Given the description of an element on the screen output the (x, y) to click on. 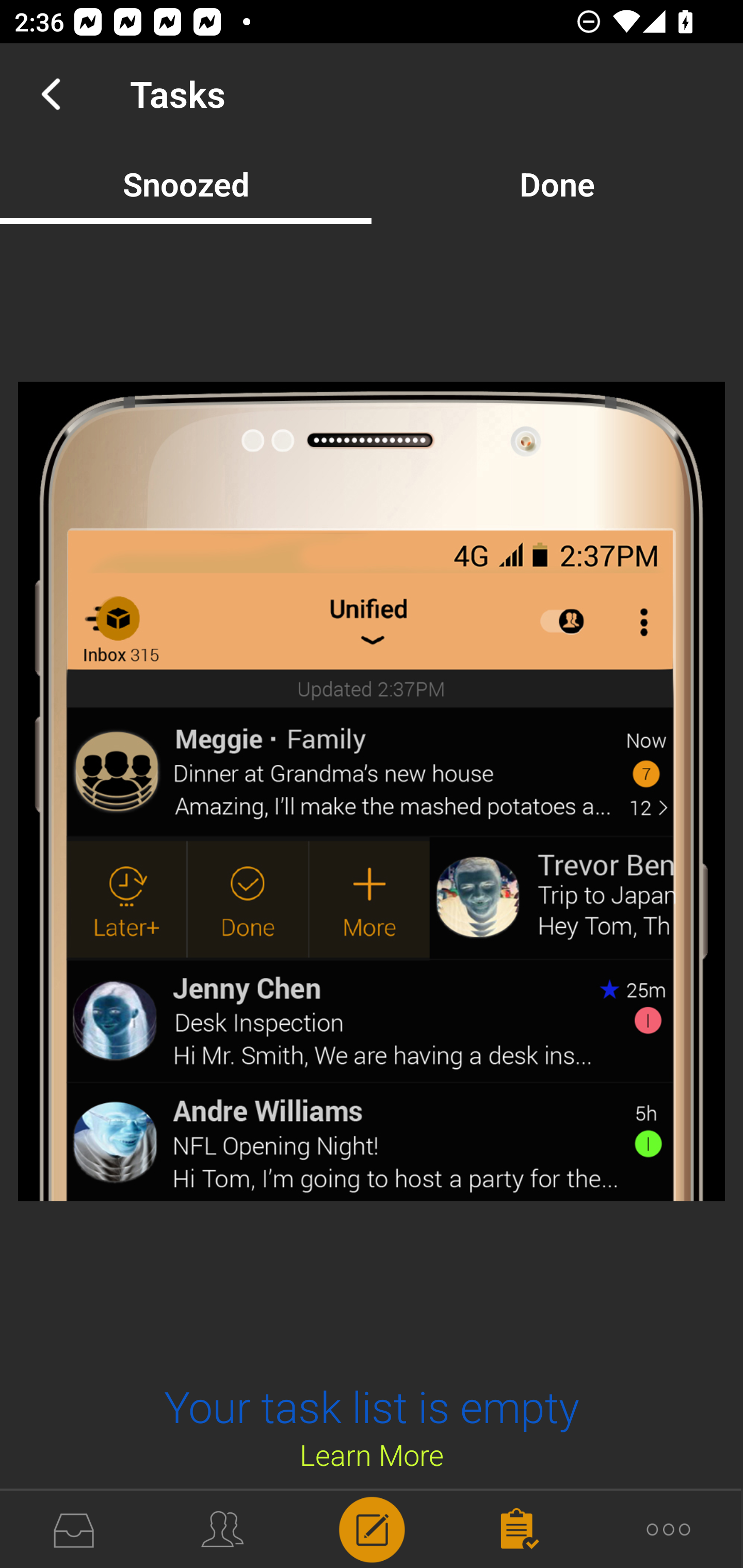
Navigate up (50, 93)
Snoozed (185, 184)
Done (557, 184)
Learn More (371, 1453)
